Given the description of an element on the screen output the (x, y) to click on. 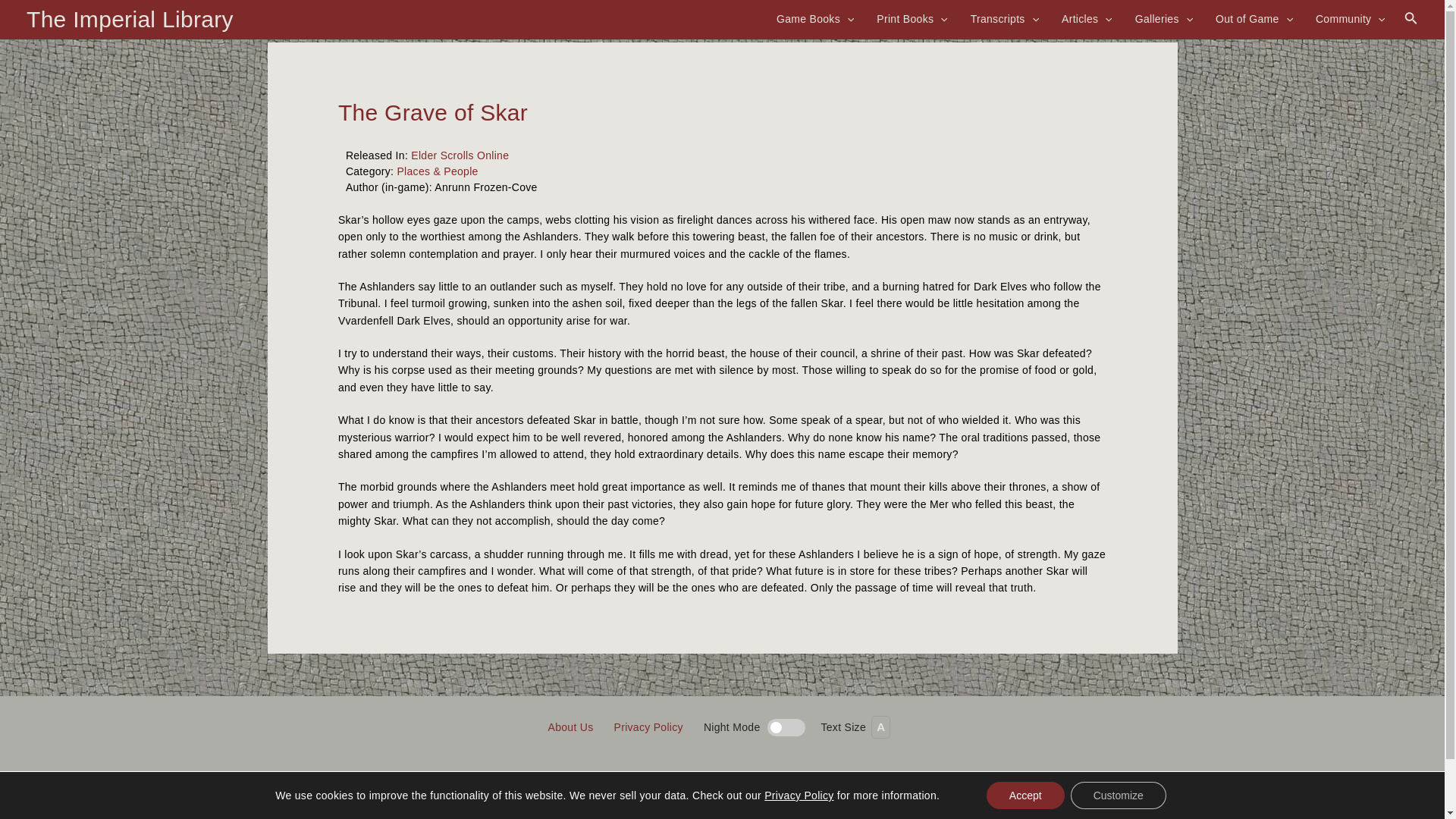
The Imperial Library (129, 18)
Print Books (911, 18)
Game Books (815, 18)
Transcripts (1004, 18)
Articles (1087, 18)
